Given the description of an element on the screen output the (x, y) to click on. 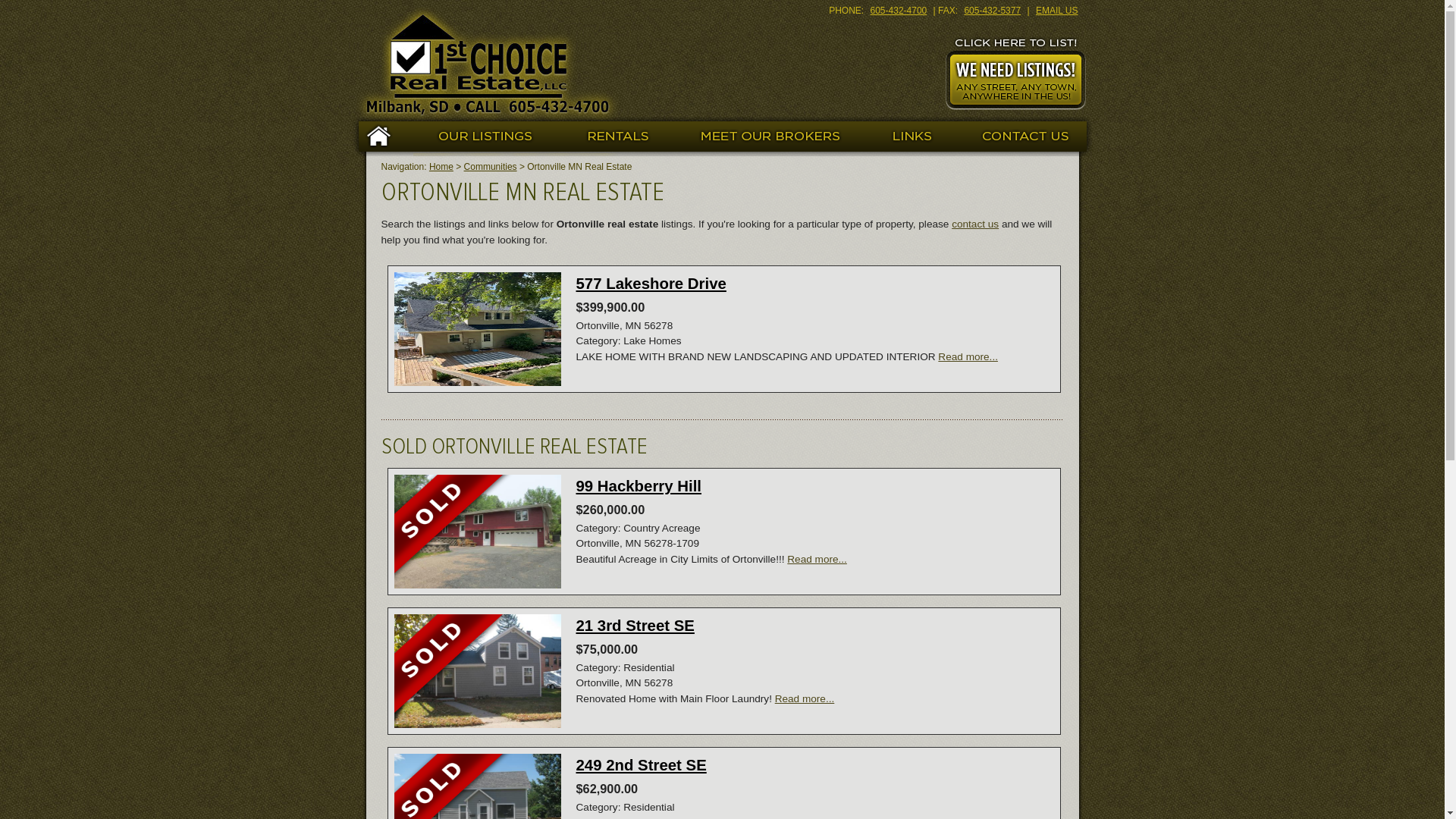
Read more... Element type: text (967, 356)
contact us Element type: text (974, 223)
EMAIL US Element type: text (1057, 10)
Meet Our Brokers Element type: text (766, 136)
Rentals Element type: text (616, 136)
605-432-5377 Element type: text (992, 10)
577 Lakeshore Drive Element type: text (651, 283)
Links Element type: text (906, 136)
99 Hackberry Hill Element type: text (639, 485)
Home Element type: text (441, 166)
249 2nd Street SE Element type: text (641, 764)
605-432-4700 Element type: text (898, 10)
Listings Element type: text (485, 136)
Read more... Element type: text (817, 558)
Contact Element type: text (1022, 136)
Home Element type: text (382, 136)
Read more... Element type: text (804, 698)
21 3rd Street SE Element type: text (635, 625)
Communities Element type: text (490, 166)
